Given the description of an element on the screen output the (x, y) to click on. 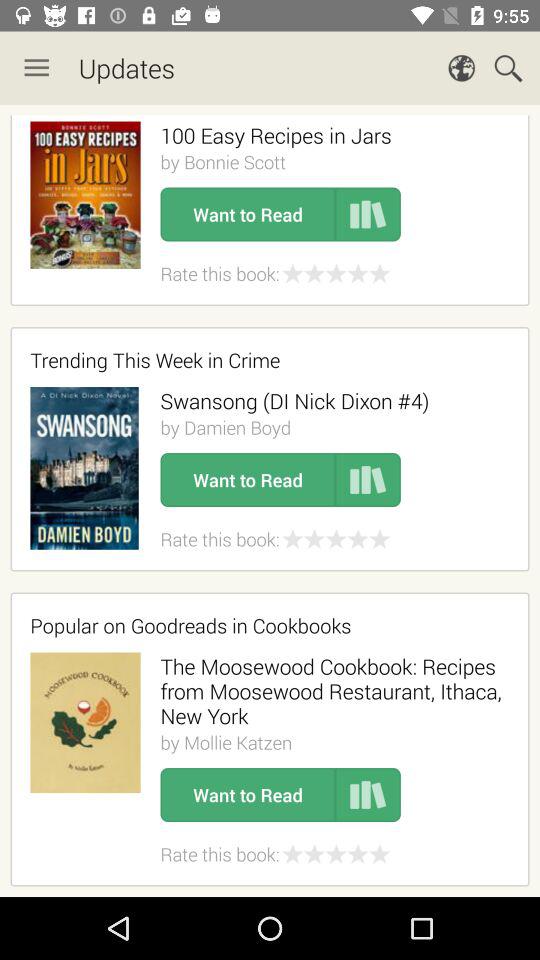
add to reading list (367, 214)
